Given the description of an element on the screen output the (x, y) to click on. 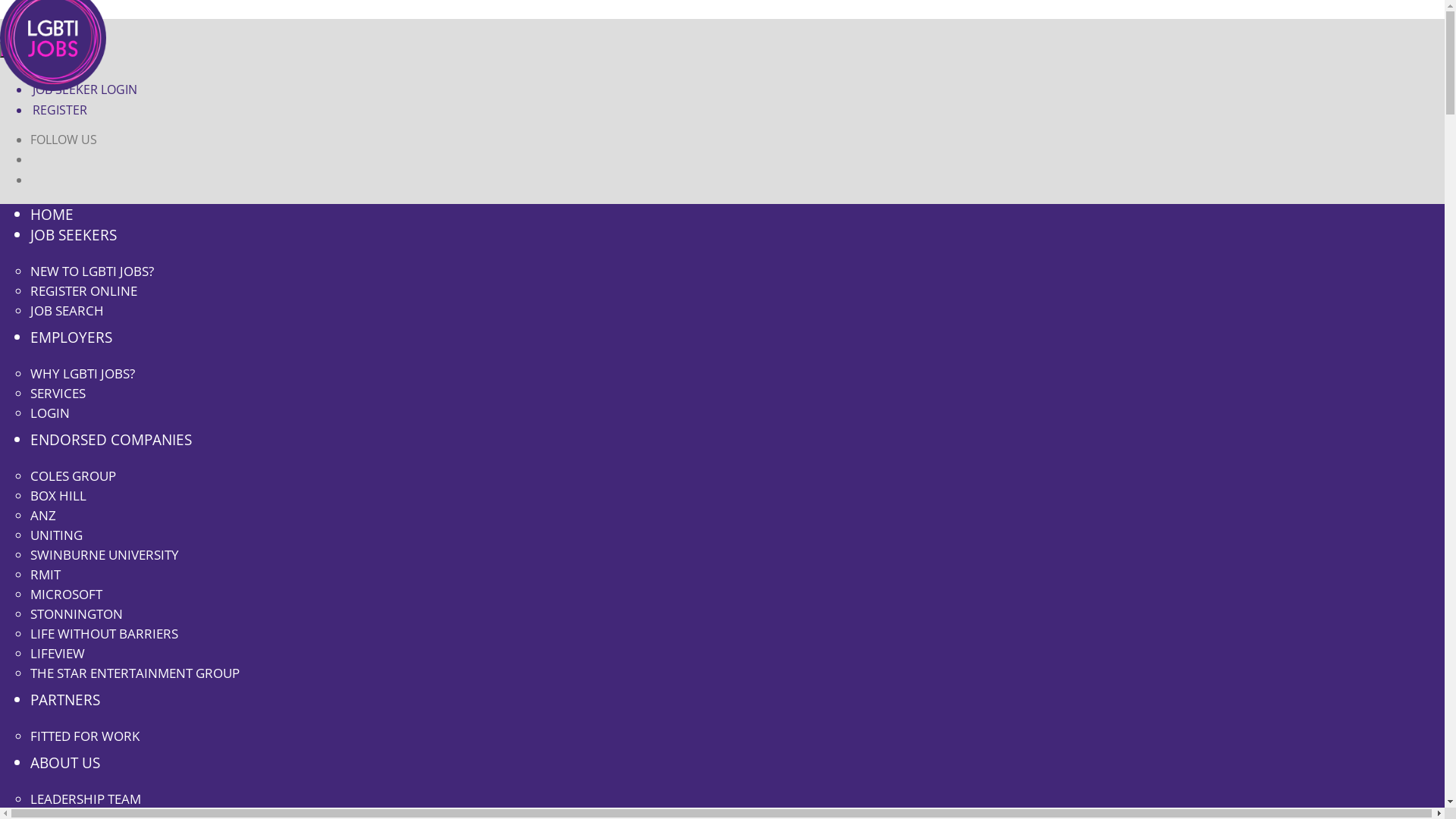
REGISTER ONLINE Element type: text (83, 290)
MICROSOFT Element type: text (66, 593)
ENDORSED COMPANIES Element type: text (110, 439)
NEW TO LGBTI JOBS? Element type: text (91, 270)
ANZ Element type: text (43, 515)
PARTNERS Element type: text (65, 699)
LOGIN Element type: text (49, 412)
SERVICES Element type: text (57, 392)
HOME Element type: text (51, 213)
BOX HILL Element type: text (58, 495)
WHY LGBTI JOBS? Element type: text (82, 373)
STONNINGTON Element type: text (76, 613)
SWINBURNE UNIVERSITY Element type: text (104, 554)
JOB SEARCH Element type: text (66, 310)
UNITING Element type: text (56, 534)
LIFE WITHOUT BARRIERS Element type: text (104, 633)
FITTED FOR WORK Element type: text (84, 735)
EMPLOYERS Element type: text (71, 336)
THE STAR ENTERTAINMENT GROUP Element type: text (134, 672)
ABOUT US Element type: text (65, 762)
LEADERSHIP TEAM Element type: text (85, 798)
ARTICLES Element type: text (57, 68)
REGISTER Element type: text (58, 109)
Toggle navigation Element type: text (45, 49)
RMIT Element type: text (45, 574)
JOB SEEKER LOGIN Element type: text (83, 89)
JOB SEEKERS Element type: text (73, 234)
LIFEVIEW Element type: text (57, 653)
COLES GROUP Element type: text (73, 475)
